Given the description of an element on the screen output the (x, y) to click on. 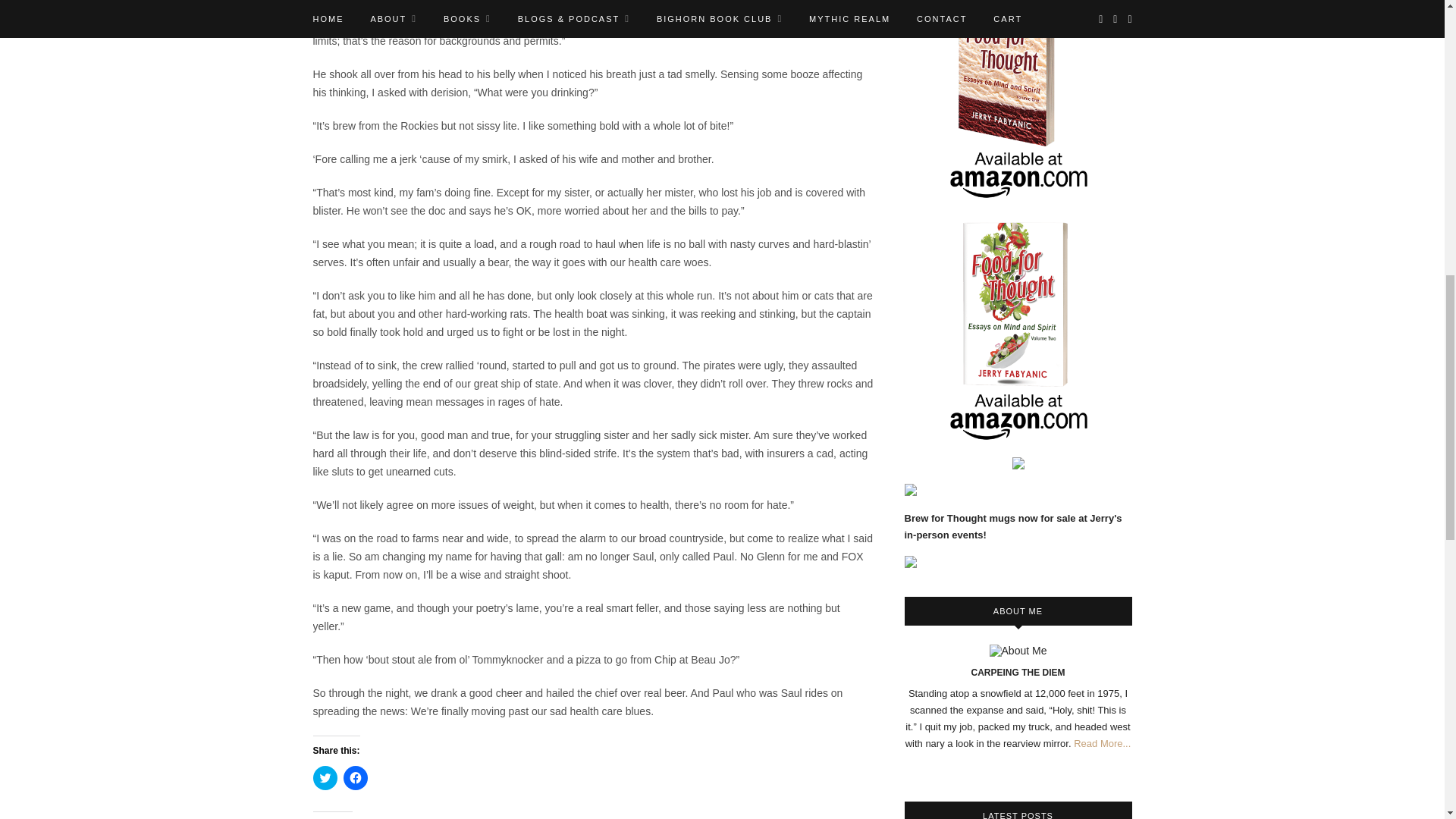
Click to share on Facebook (354, 777)
Click to share on Twitter (324, 777)
